Given the description of an element on the screen output the (x, y) to click on. 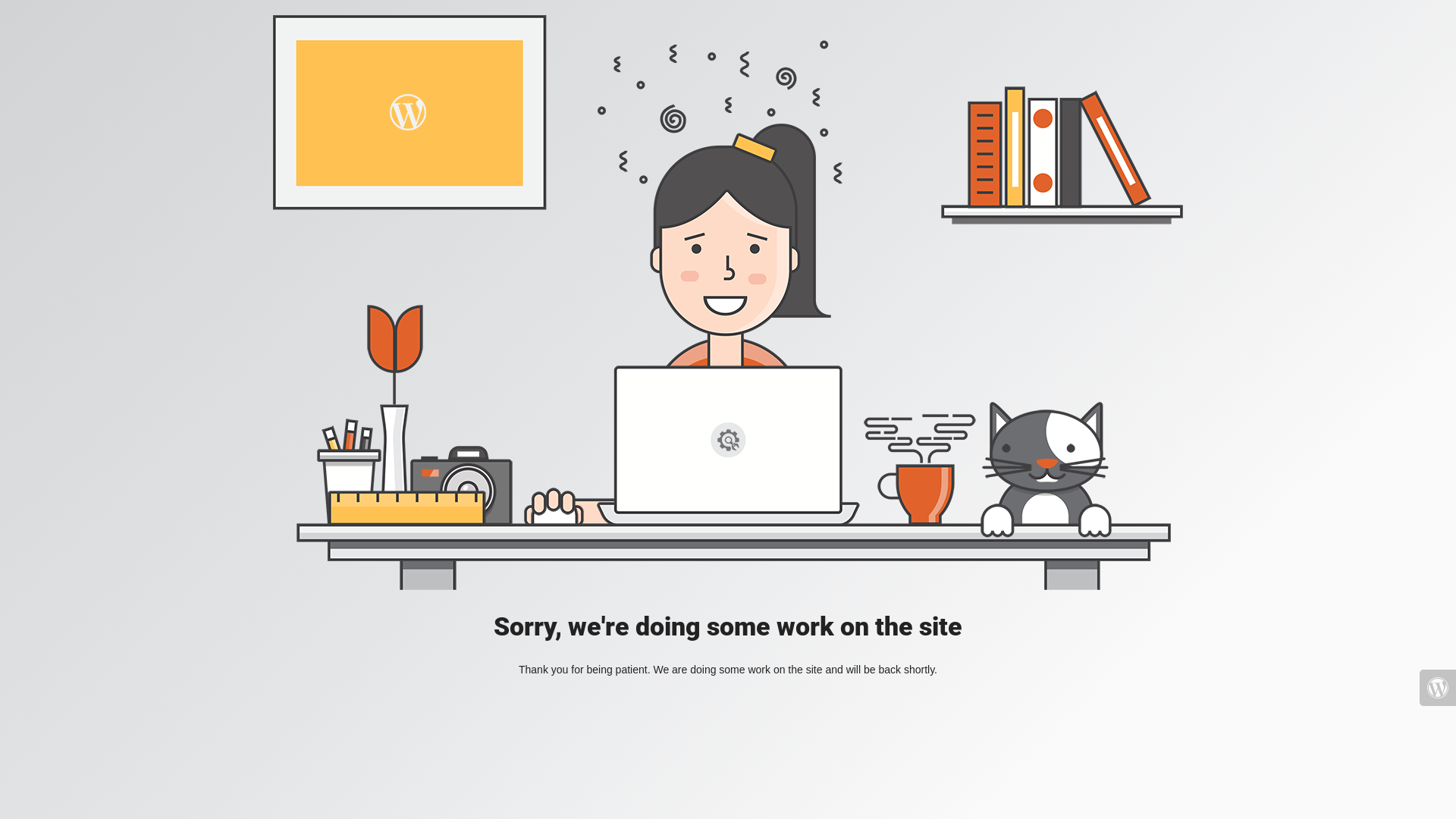
Cyber Chick at work Element type: hover (728, 302)
